Given the description of an element on the screen output the (x, y) to click on. 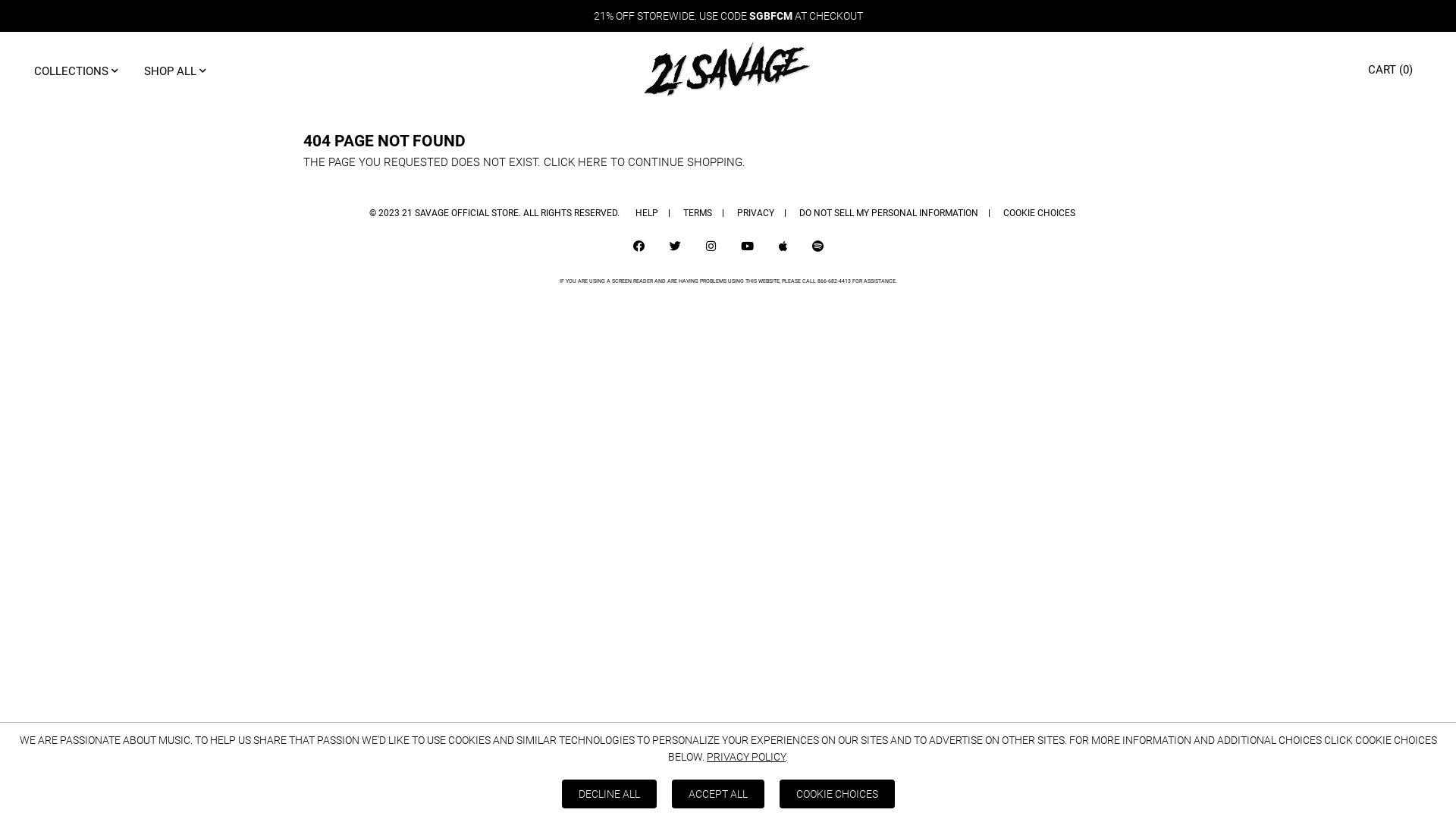
HELP Element type: text (646, 212)
COLLECTIONS Element type: text (75, 69)
TERMS Element type: text (697, 212)
DO NOT SELL MY PERSONAL INFORMATION Element type: text (888, 212)
PRIVACY POLICY Element type: text (745, 756)
HERE Element type: text (592, 162)
COOKIE CHOICES Element type: text (1038, 212)
COOKIE CHOICES Element type: text (836, 793)
SHOP ALL Element type: text (174, 69)
CART (0) Element type: text (1396, 69)
PRIVACY Element type: text (755, 212)
ACCEPT ALL Element type: text (717, 793)
DECLINE ALL Element type: text (608, 793)
